Given the description of an element on the screen output the (x, y) to click on. 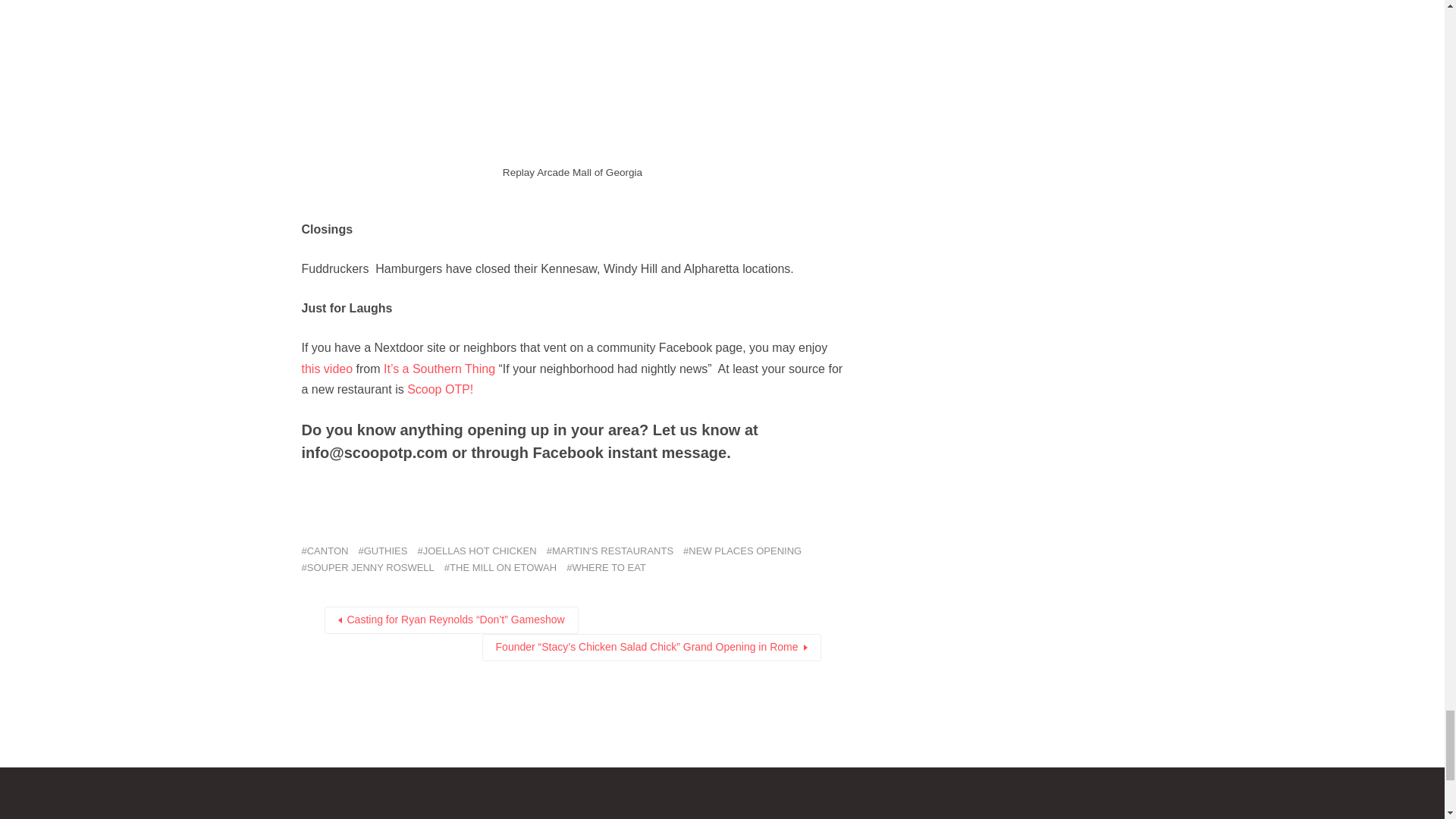
Scoop OTP! (440, 389)
GUTHIES (382, 550)
NEW PLACES OPENING (742, 550)
this video  (328, 368)
JOELLAS HOT CHICKEN (475, 550)
CANTON (325, 550)
MARTIN'S RESTAURANTS (609, 550)
